Given the description of an element on the screen output the (x, y) to click on. 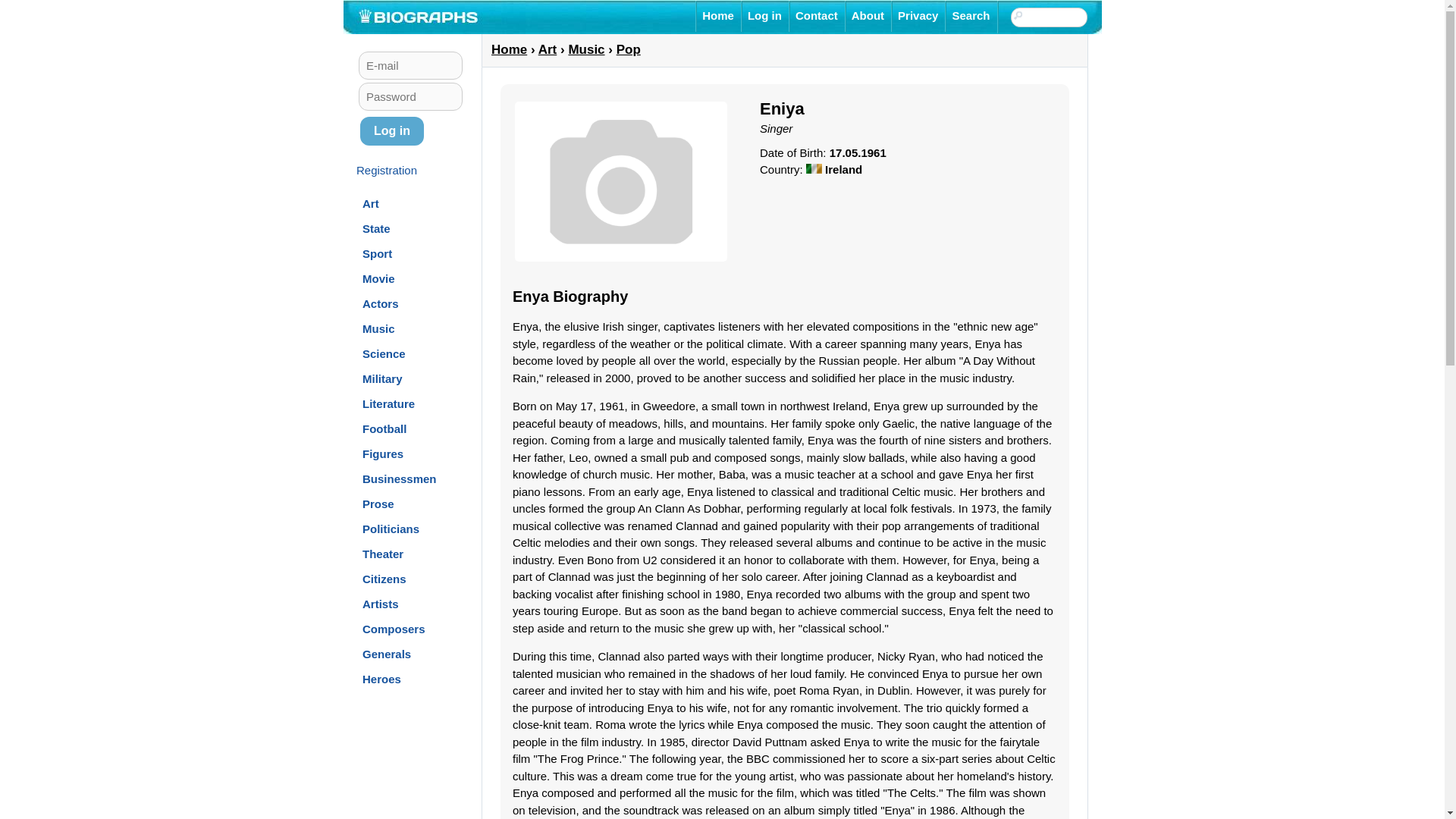
Sport (376, 253)
State (376, 227)
Theater (382, 553)
Artists (380, 603)
Movie (378, 277)
Music (378, 327)
Art (370, 203)
Literature (388, 403)
Generals (386, 653)
Businessmen (399, 477)
